Given the description of an element on the screen output the (x, y) to click on. 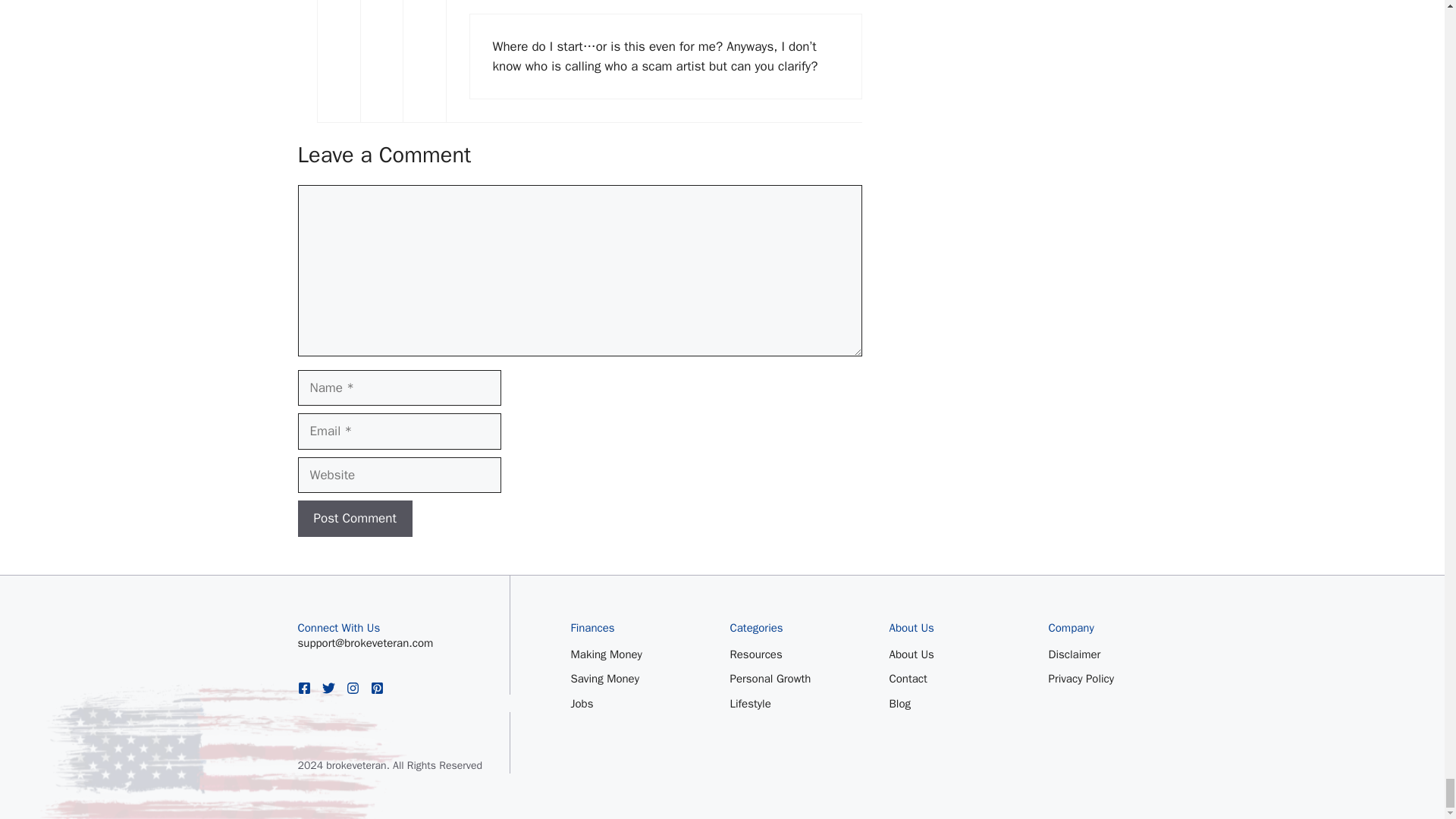
Post Comment (354, 518)
